Given the description of an element on the screen output the (x, y) to click on. 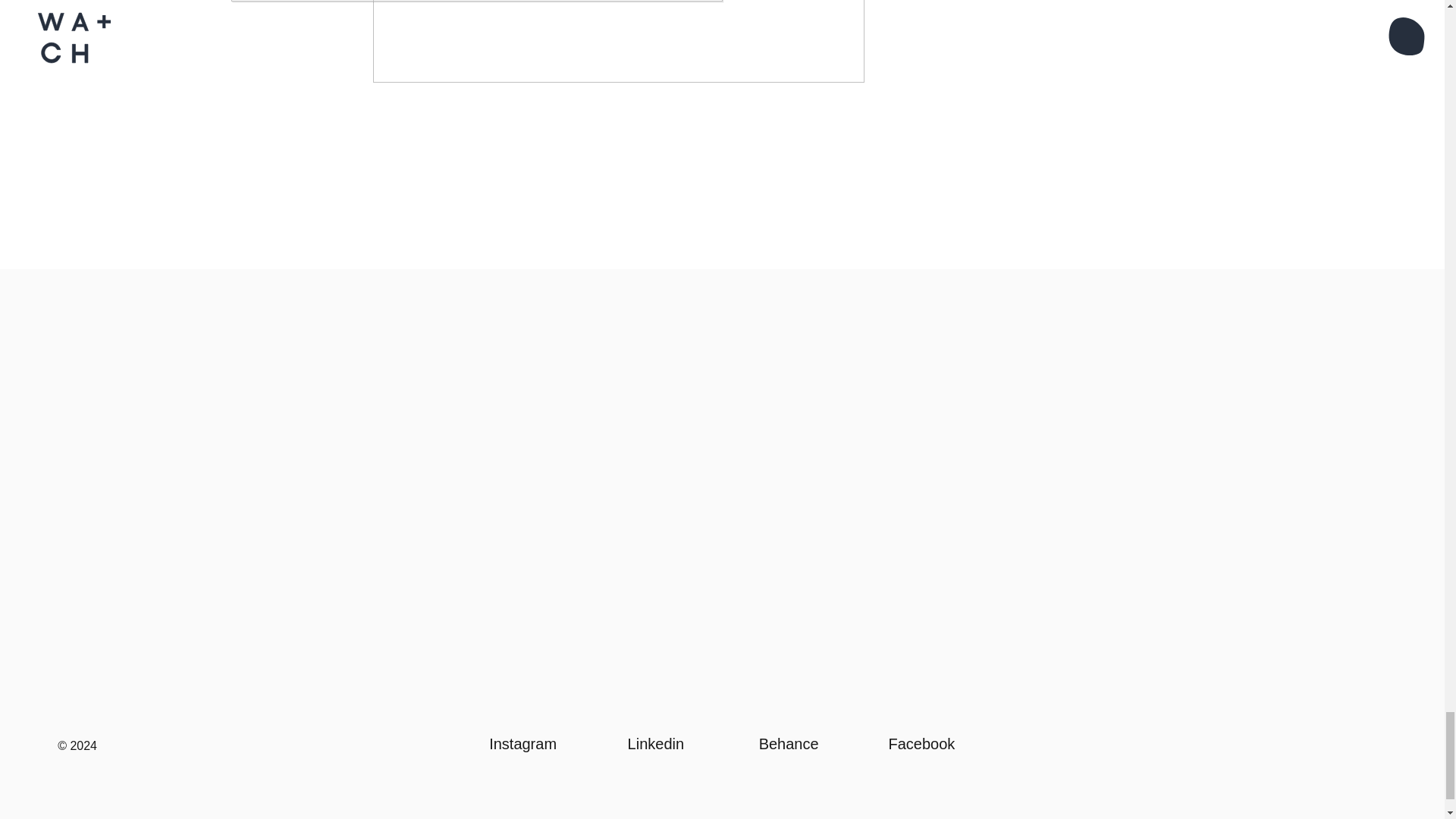
Linkedin (655, 743)
Facebook (921, 743)
Instagram (522, 743)
Behance (788, 743)
